Given the description of an element on the screen output the (x, y) to click on. 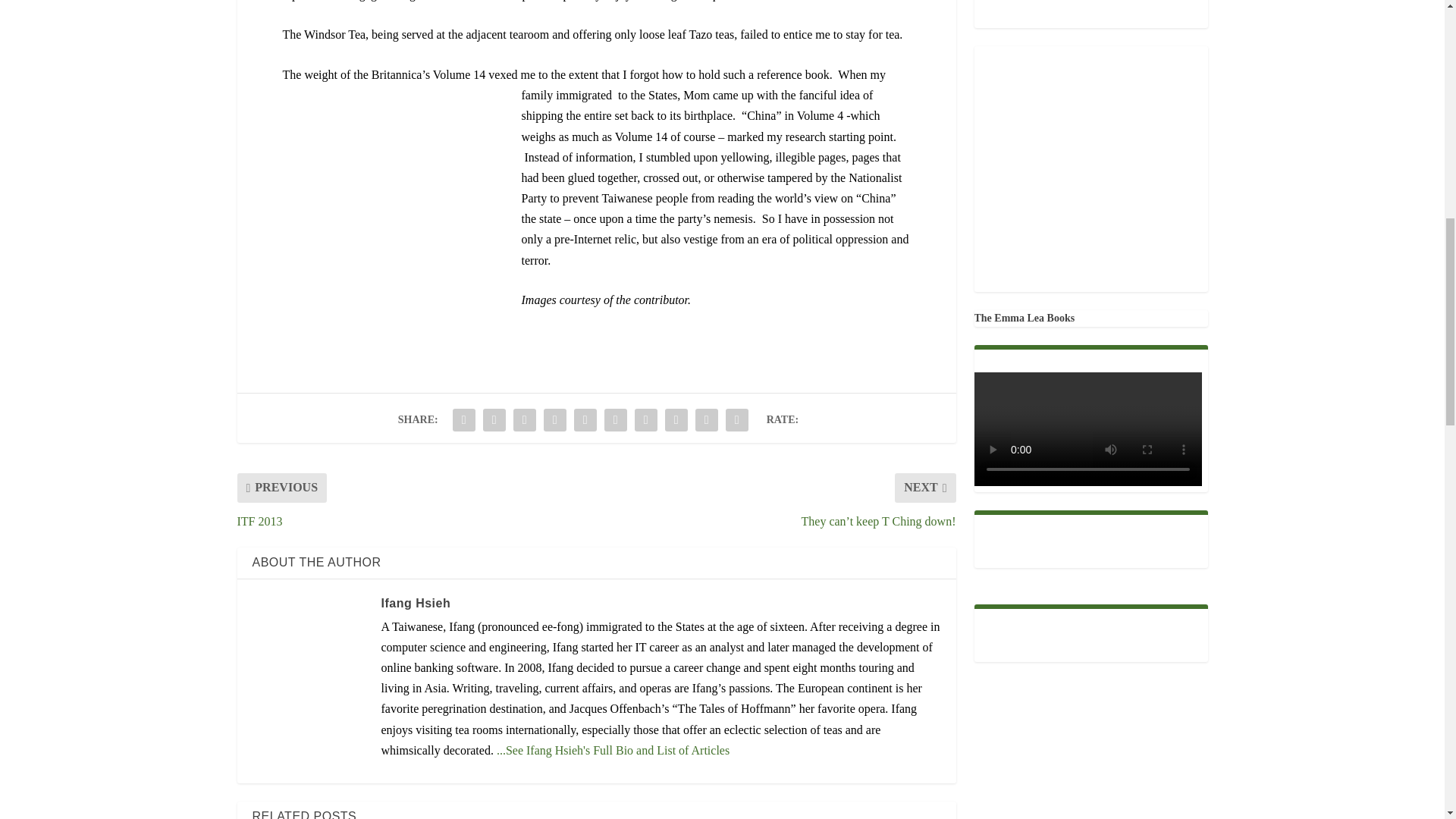
Share "Bone China" via Email (706, 419)
Share "Bone China" via Tumblr (555, 419)
Share "Bone China" via Stumbleupon (676, 419)
Share "Bone China" via LinkedIn (614, 419)
Share "Bone China" via Twitter (494, 419)
Share "Bone China" via Pinterest (584, 419)
Share "Bone China" via Buffer (645, 419)
Share "Bone China" via Facebook (463, 419)
